Given the description of an element on the screen output the (x, y) to click on. 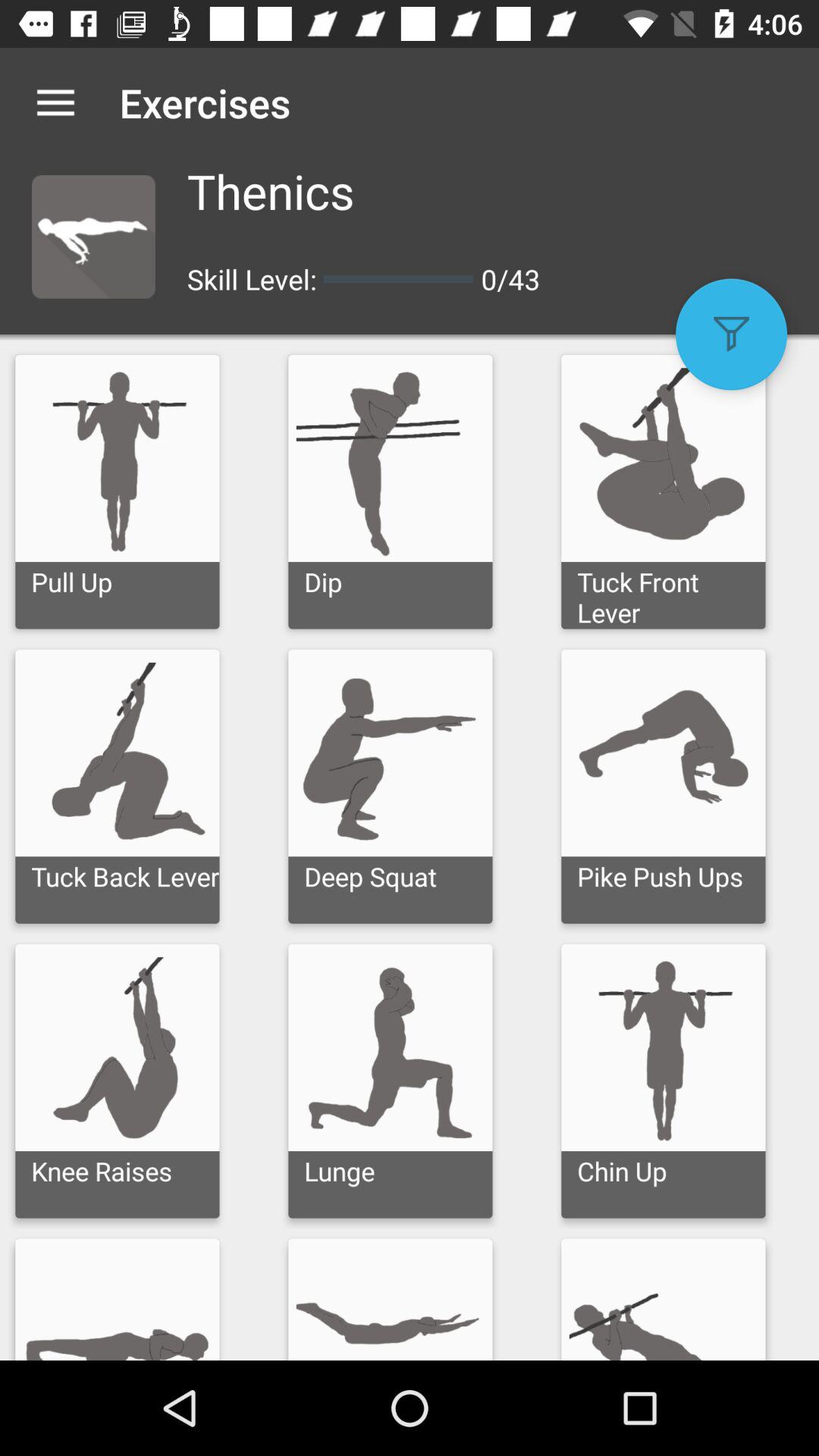
select the icon next to exercises app (55, 102)
